Given the description of an element on the screen output the (x, y) to click on. 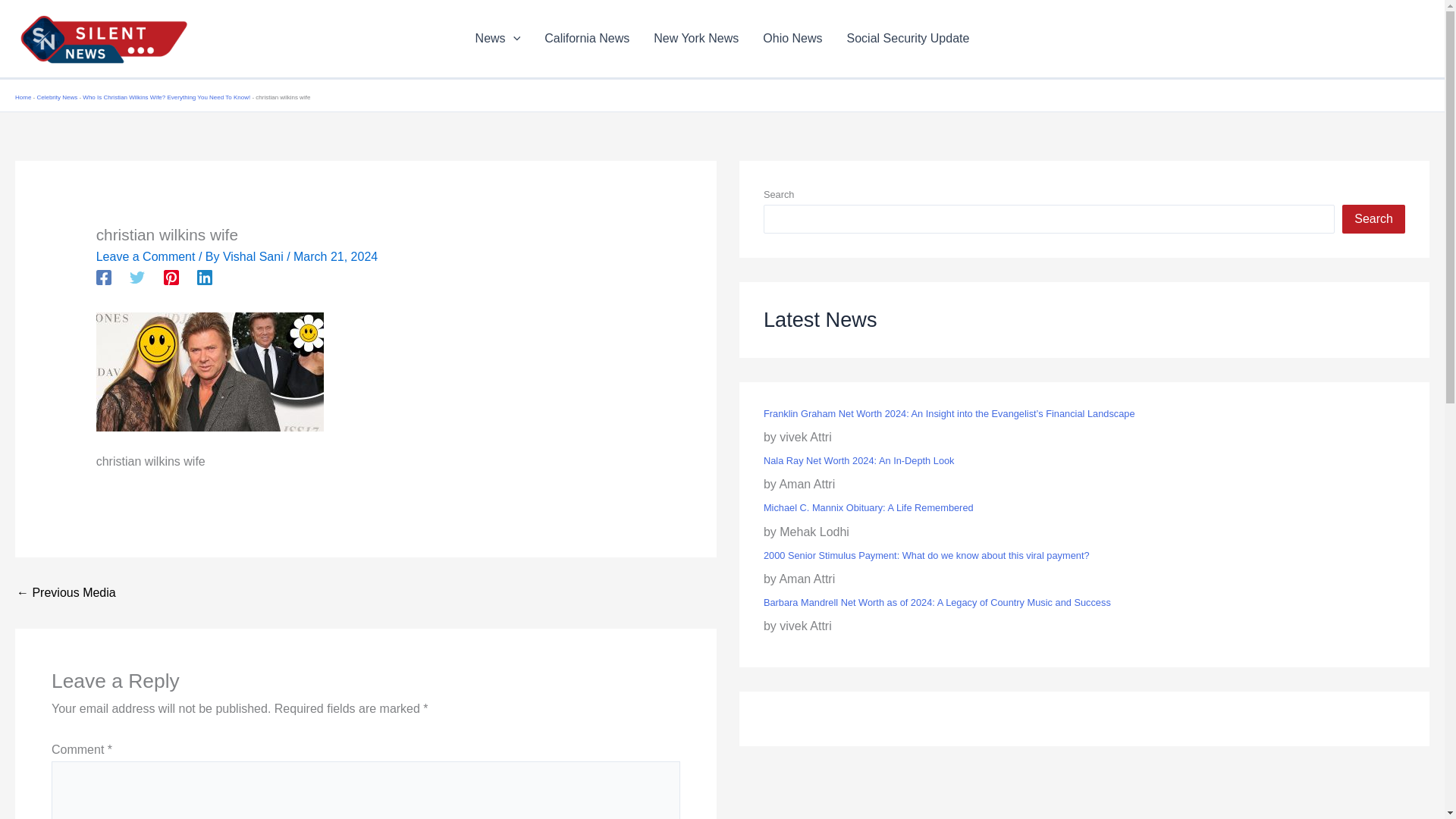
Social Security Update (907, 38)
View all posts by Vishal Sani (254, 256)
Who Is Christian Wilkins Wife? Everything You Need To Know! (66, 592)
Ohio News (792, 38)
Nala Ray Net Worth 2024: An In-Depth Look (858, 460)
Who Is Christian Wilkins Wife? Everything You Need To Know! (166, 97)
Vishal Sani (254, 256)
California News (587, 38)
Search (1373, 218)
christian wilkins wife 1 (209, 371)
